Given the description of an element on the screen output the (x, y) to click on. 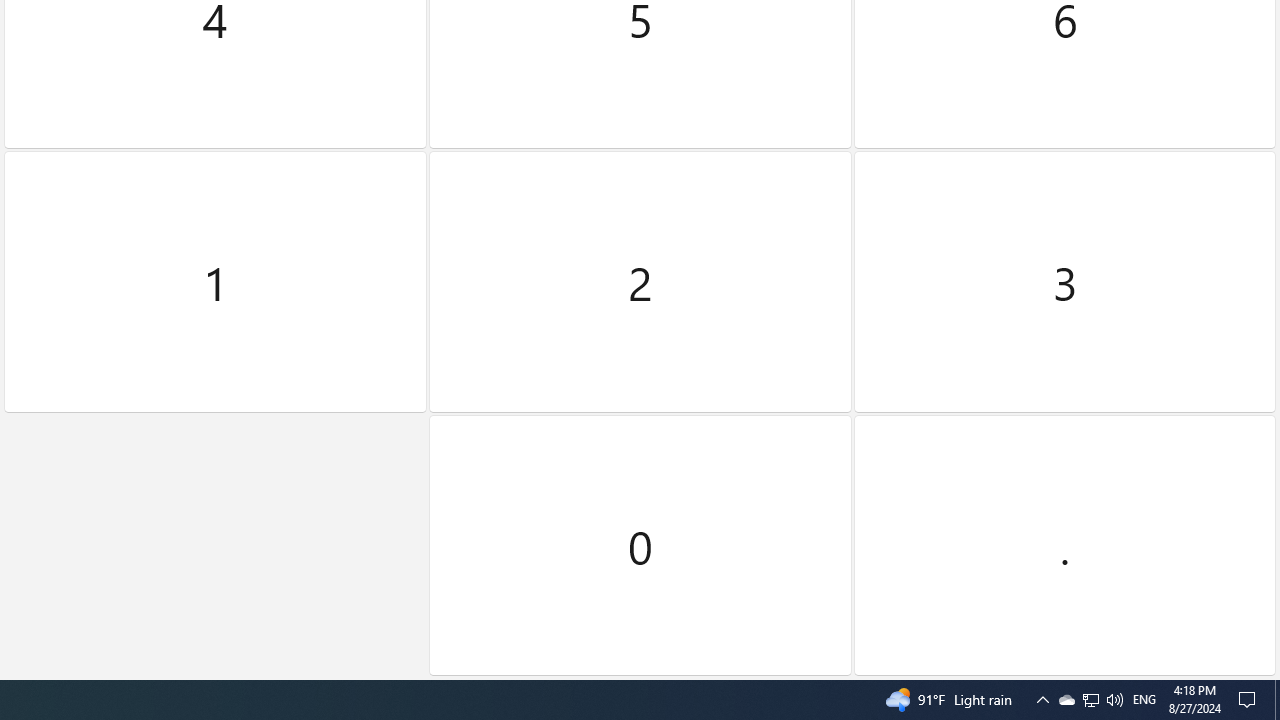
One (215, 282)
Zero (640, 545)
Two (640, 282)
Decimal separator (1064, 545)
Three (1064, 282)
